Given the description of an element on the screen output the (x, y) to click on. 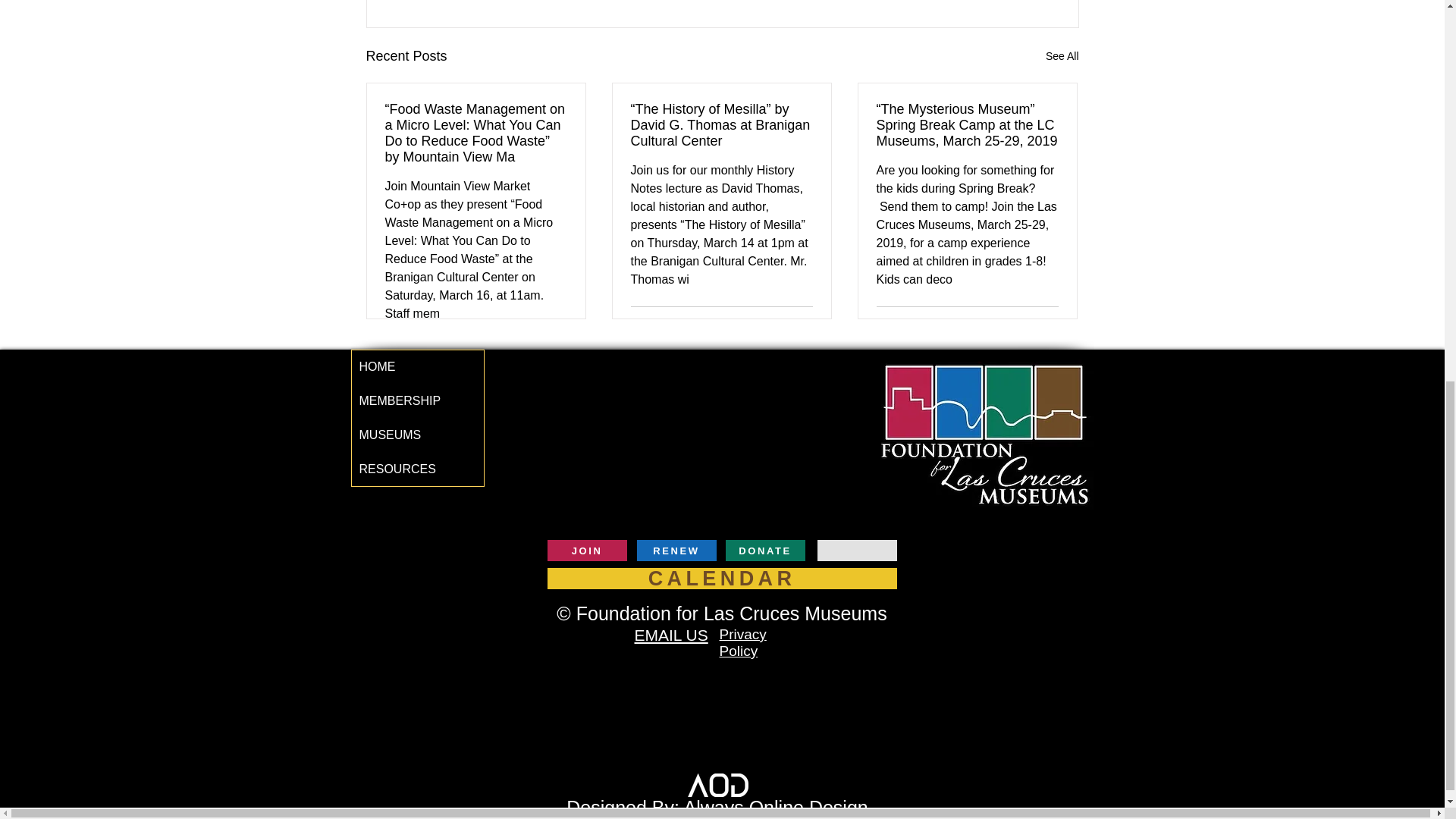
Post not marked as liked (804, 324)
See All (1061, 56)
Facebook Like (1048, 552)
